Given the description of an element on the screen output the (x, y) to click on. 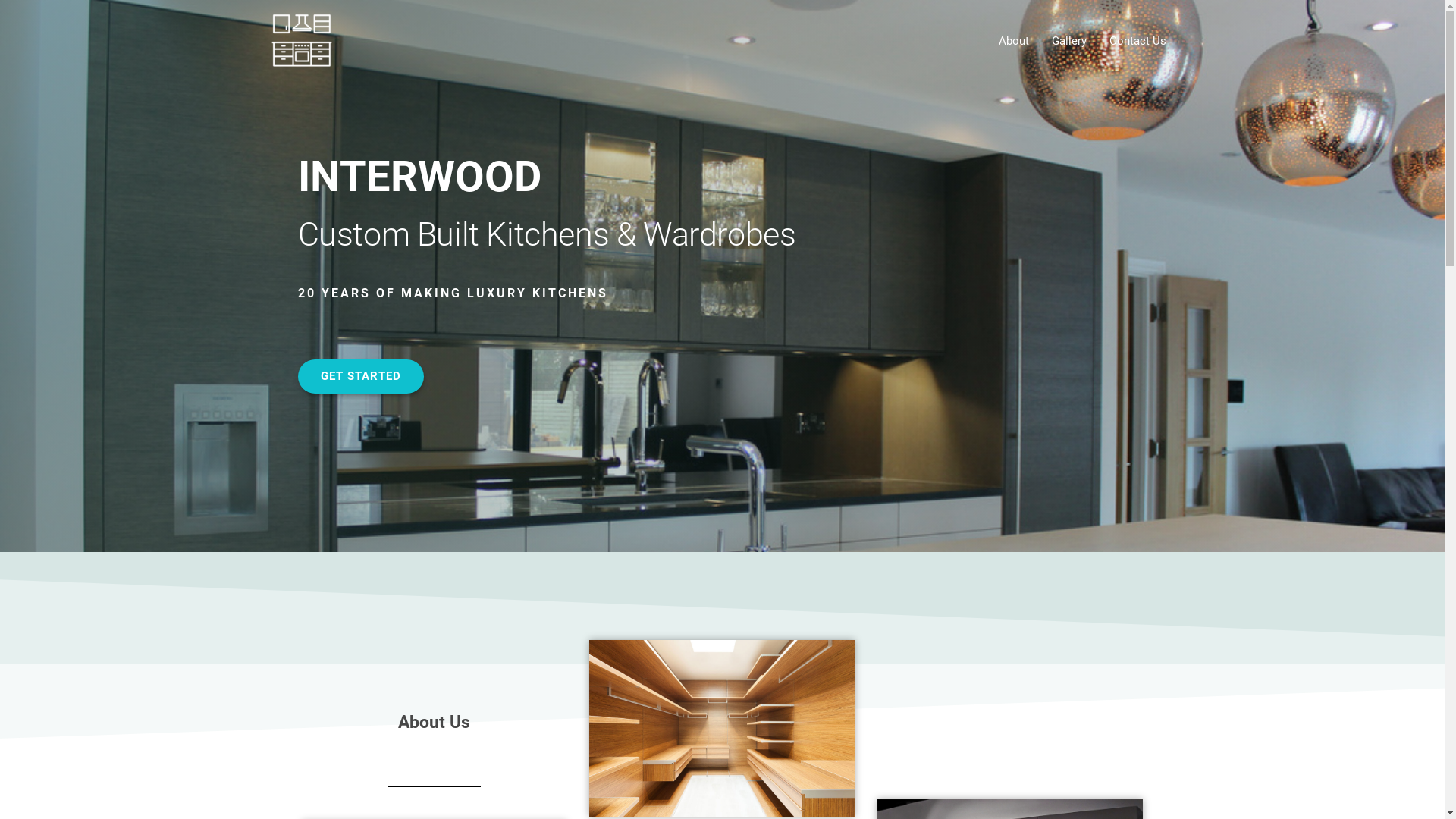
GET STARTED Element type: text (360, 376)
Gallery Element type: text (1069, 40)
About Element type: text (1013, 40)
Contact Us Element type: text (1137, 40)
